Given the description of an element on the screen output the (x, y) to click on. 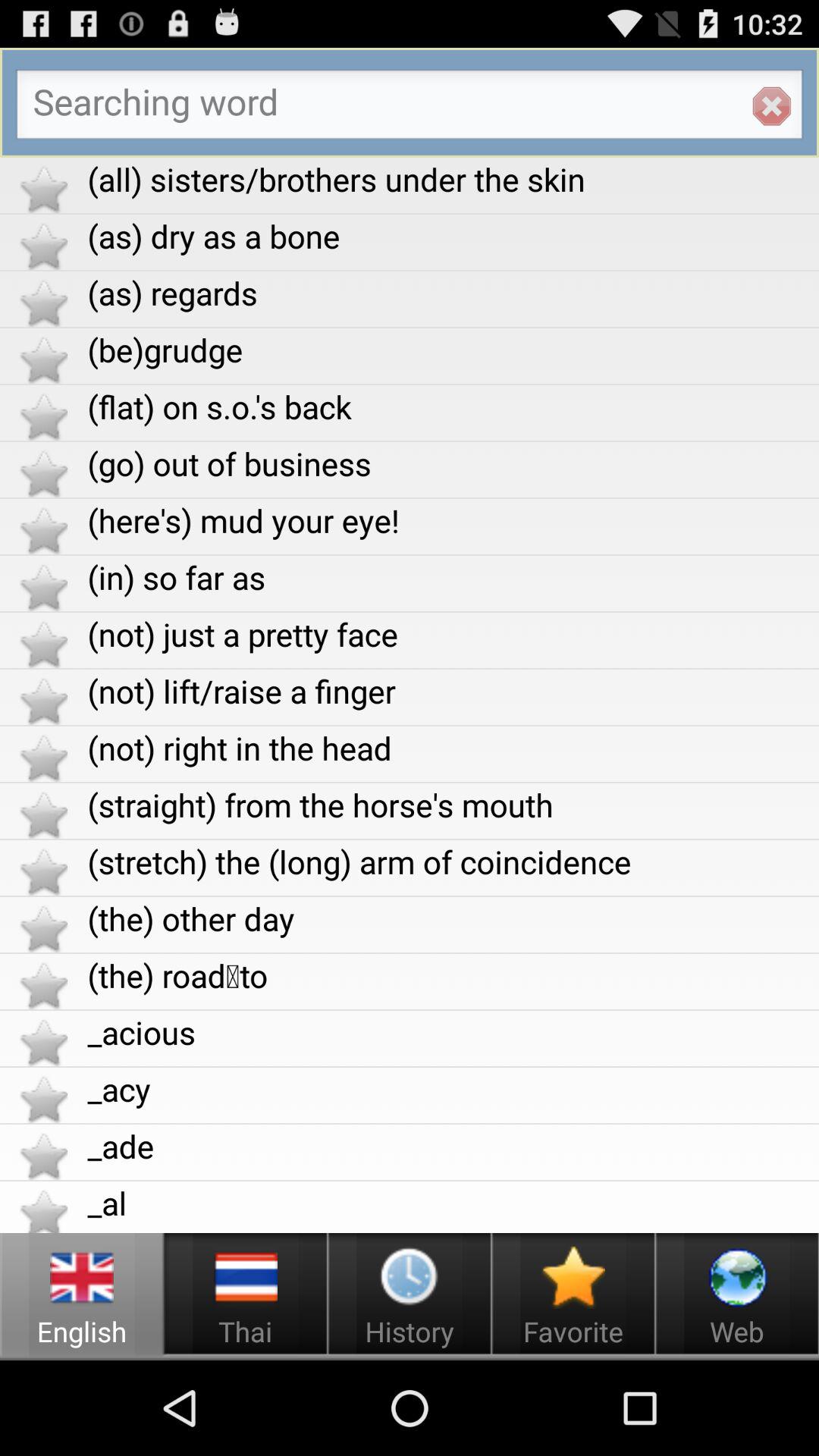
turn on the item above the stretch the long (453, 804)
